Given the description of an element on the screen output the (x, y) to click on. 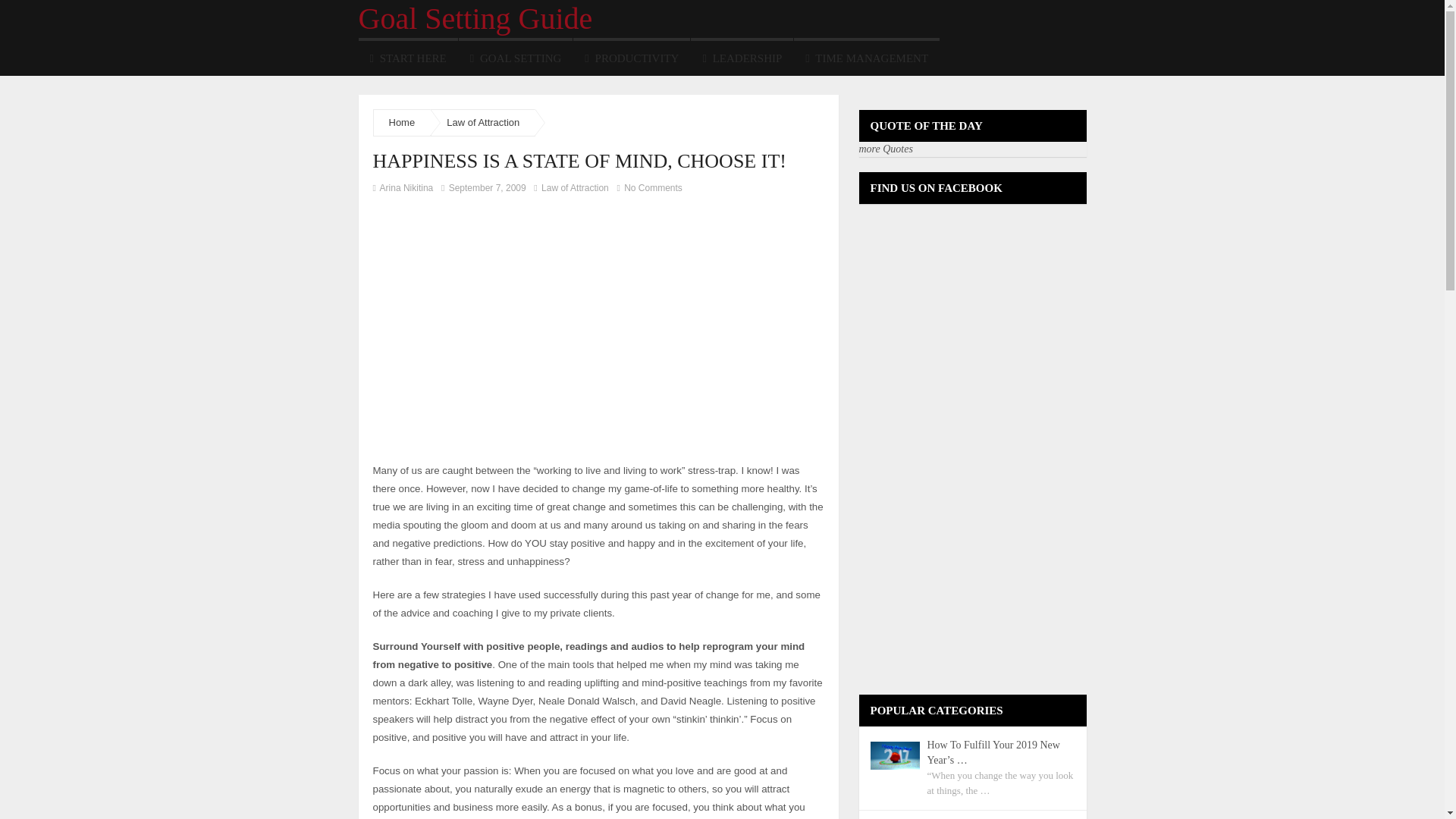
Advertisement (499, 310)
Posts by Arina Nikitina (406, 187)
View all posts in Law of Attraction (574, 187)
Arina Nikitina (406, 187)
TIME MANAGEMENT (866, 56)
LEADERSHIP (741, 56)
Goal Setting Guide (475, 18)
 No Comments (648, 187)
Advertisement (550, 444)
GOAL SETTING (515, 56)
Home (401, 122)
Law of Attraction (574, 187)
Law of Attraction (482, 122)
more Quotes (885, 148)
START HERE (407, 56)
